Given the description of an element on the screen output the (x, y) to click on. 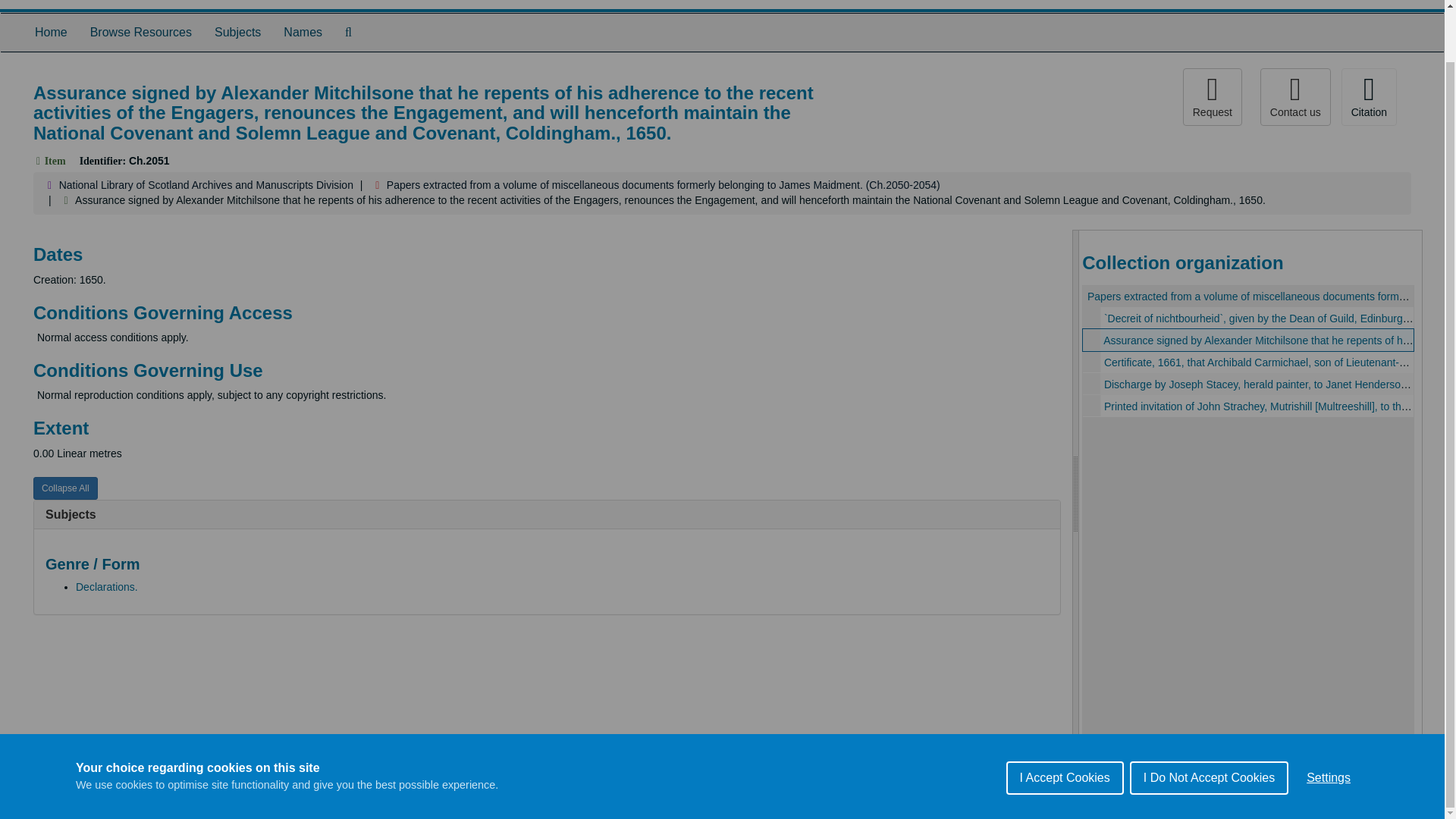
translation missing: en.Home (50, 31)
Browse Resources (140, 32)
Names (302, 32)
Citation (1368, 96)
Home (50, 32)
Settings (1328, 771)
Request (1211, 96)
Collapse All (65, 487)
Subjects (70, 513)
Declarations. (106, 586)
Subjects (237, 32)
